Given the description of an element on the screen output the (x, y) to click on. 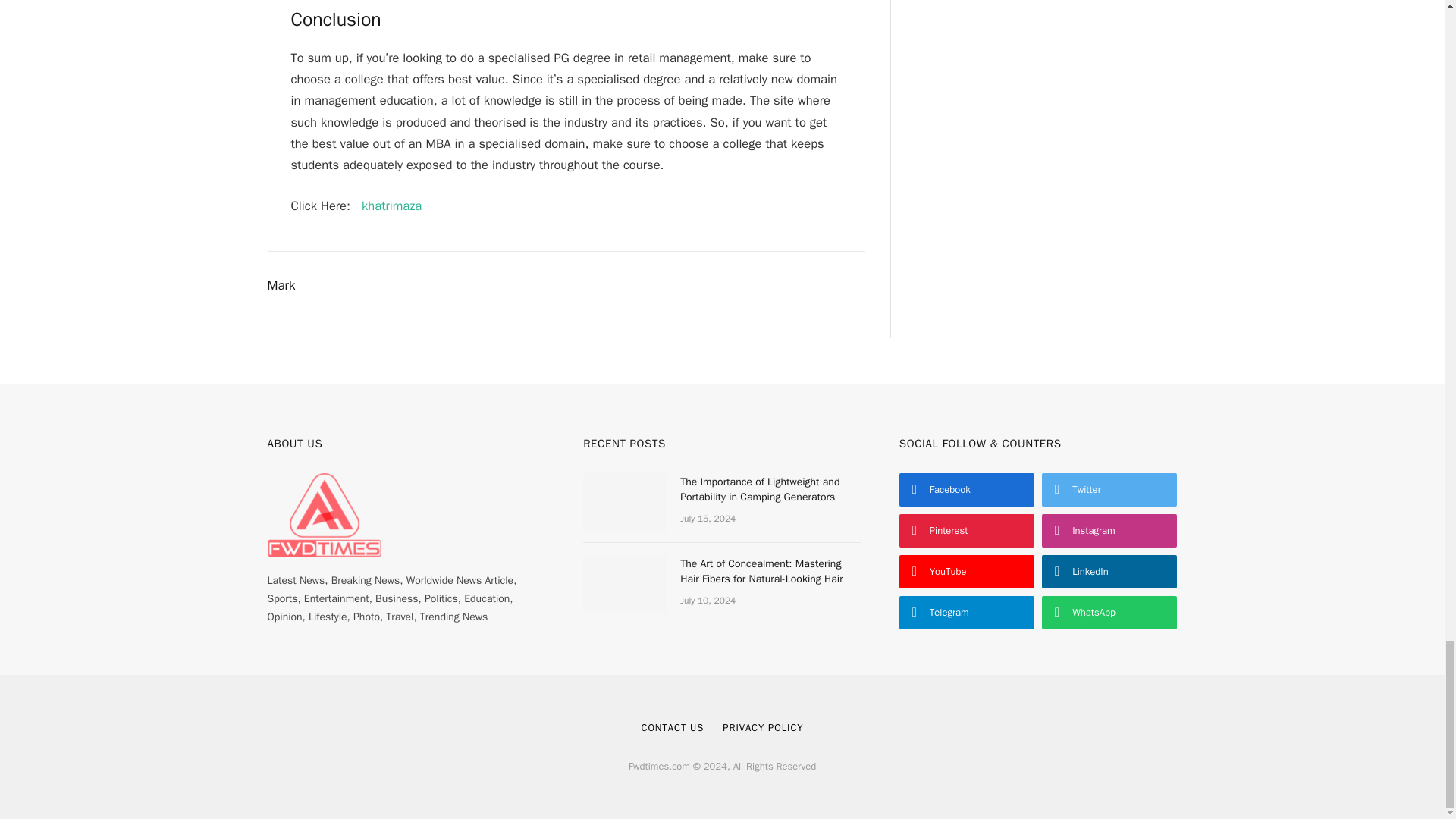
khatrimaza (391, 205)
Mark (280, 285)
Posts by Mark (280, 285)
